Given the description of an element on the screen output the (x, y) to click on. 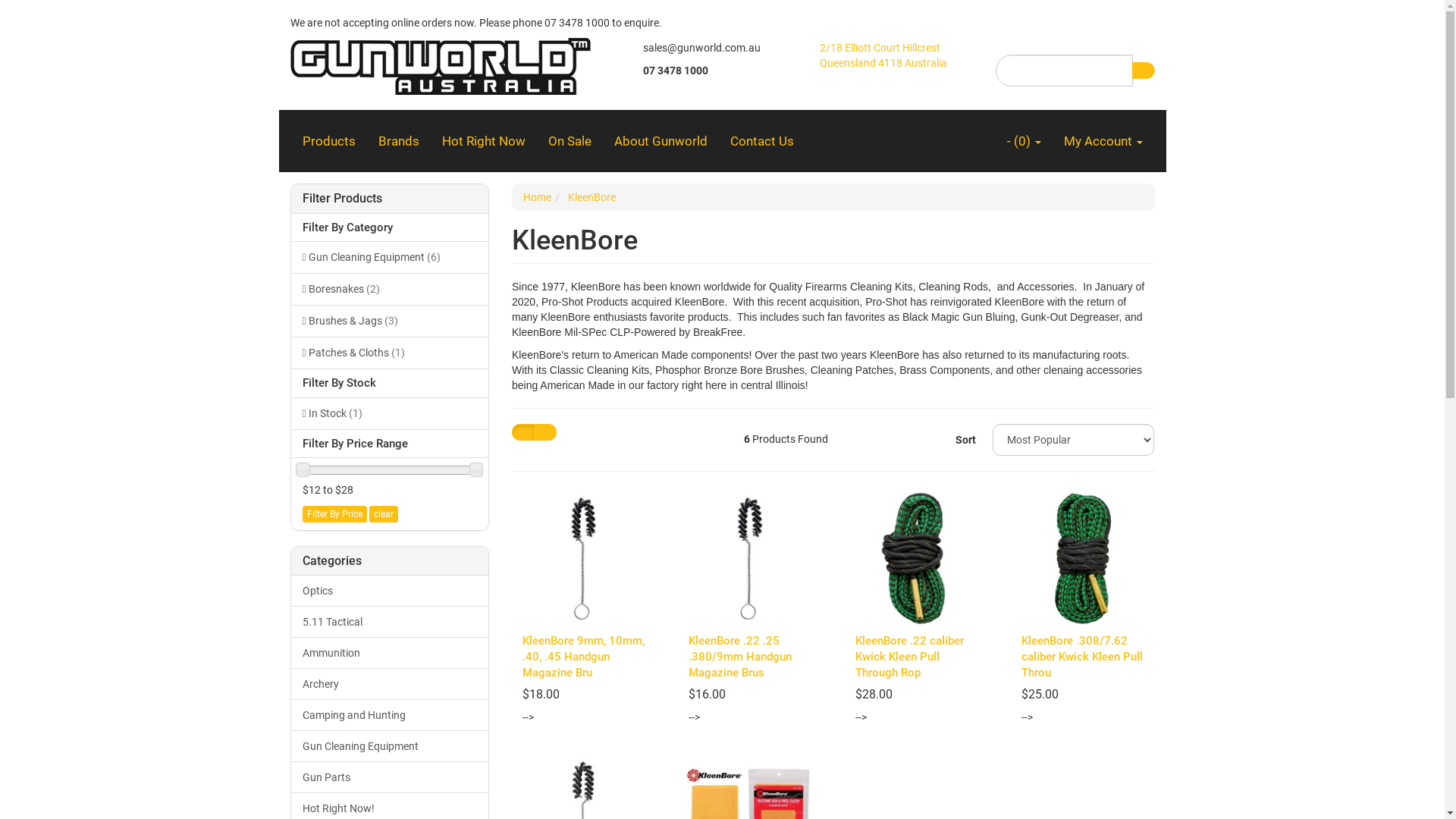
Camping and Hunting Element type: text (390, 715)
About Gunworld Element type: text (660, 140)
KleenBore .22 caliber Kwick Kleen Pull Through Rop Element type: text (909, 656)
Gun Cleaning Equipment (6) Element type: text (390, 257)
GUN WORLD AUSTRALIA Element type: hover (439, 61)
My Account Element type: text (1103, 140)
KleenBore .308/7.62 caliber Kwick Kleen Pull Throu Element type: text (1081, 656)
Contact Us Element type: text (761, 140)
5.11 Tactical Element type: text (390, 621)
Optics Element type: text (390, 590)
Patches & Cloths (1) Element type: text (390, 352)
Filter By Price Element type: text (333, 513)
Archery Element type: text (390, 683)
Hot Right Now Element type: text (483, 140)
- (0) Element type: text (1022, 140)
Gun Parts Element type: text (390, 777)
Home Element type: text (537, 197)
Boresnakes (2) Element type: text (390, 288)
KleenBore .22 .25 .380/9mm Handgun Magazine Brus Element type: text (739, 656)
Ammunition Element type: text (390, 652)
KleenBore 9mm, 10mm, .40, .45 Handgun Magazine Bru Element type: text (583, 656)
Products Element type: text (329, 140)
KleenBore Element type: text (591, 197)
2/18 Elliott Court Hillcrest Queensland 4118 Australia Element type: text (883, 54)
Search Element type: text (1142, 70)
Brushes & Jags (3) Element type: text (390, 320)
Filter Products Element type: text (388, 198)
Gun Cleaning Equipment Element type: text (390, 746)
clear Element type: text (382, 513)
In Stock (1) Element type: text (390, 413)
Brands Element type: text (398, 140)
On Sale Element type: text (569, 140)
